Given the description of an element on the screen output the (x, y) to click on. 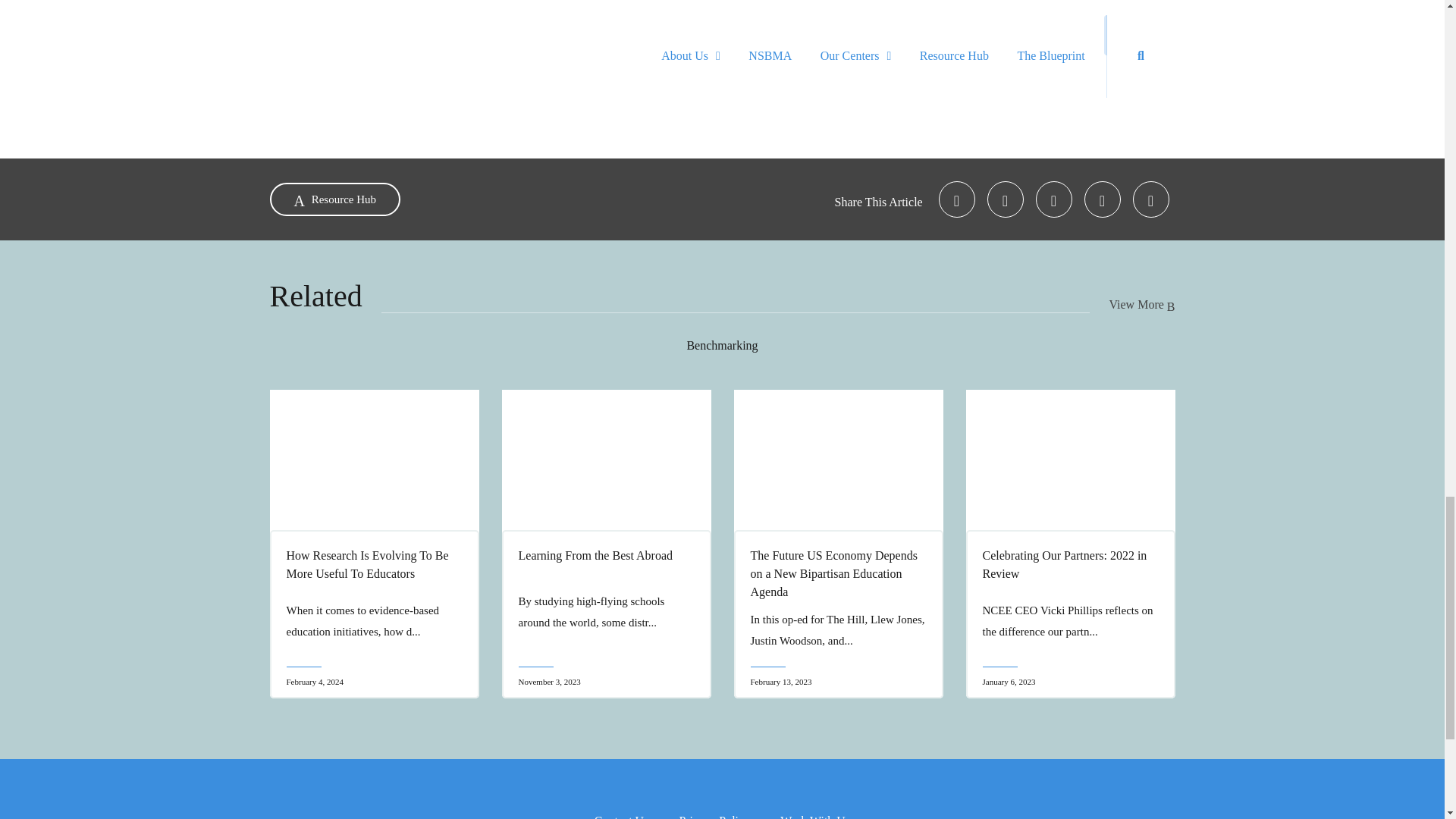
Stat3 (722, 27)
